Given the description of an element on the screen output the (x, y) to click on. 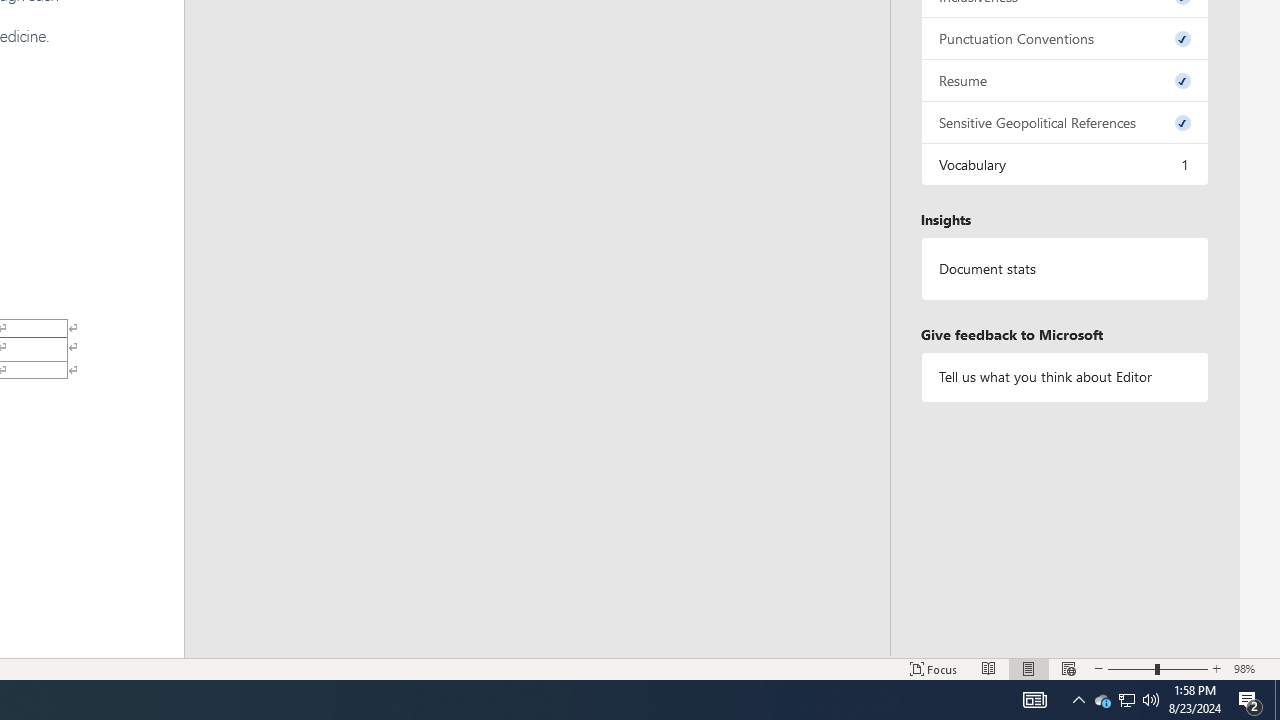
Resume, 0 issues. Press space or enter to review items. (1064, 79)
Vocabulary, 1 issue. Press space or enter to review items. (1064, 164)
Tell us what you think about Editor (1064, 376)
Document statistics (1064, 269)
